Given the description of an element on the screen output the (x, y) to click on. 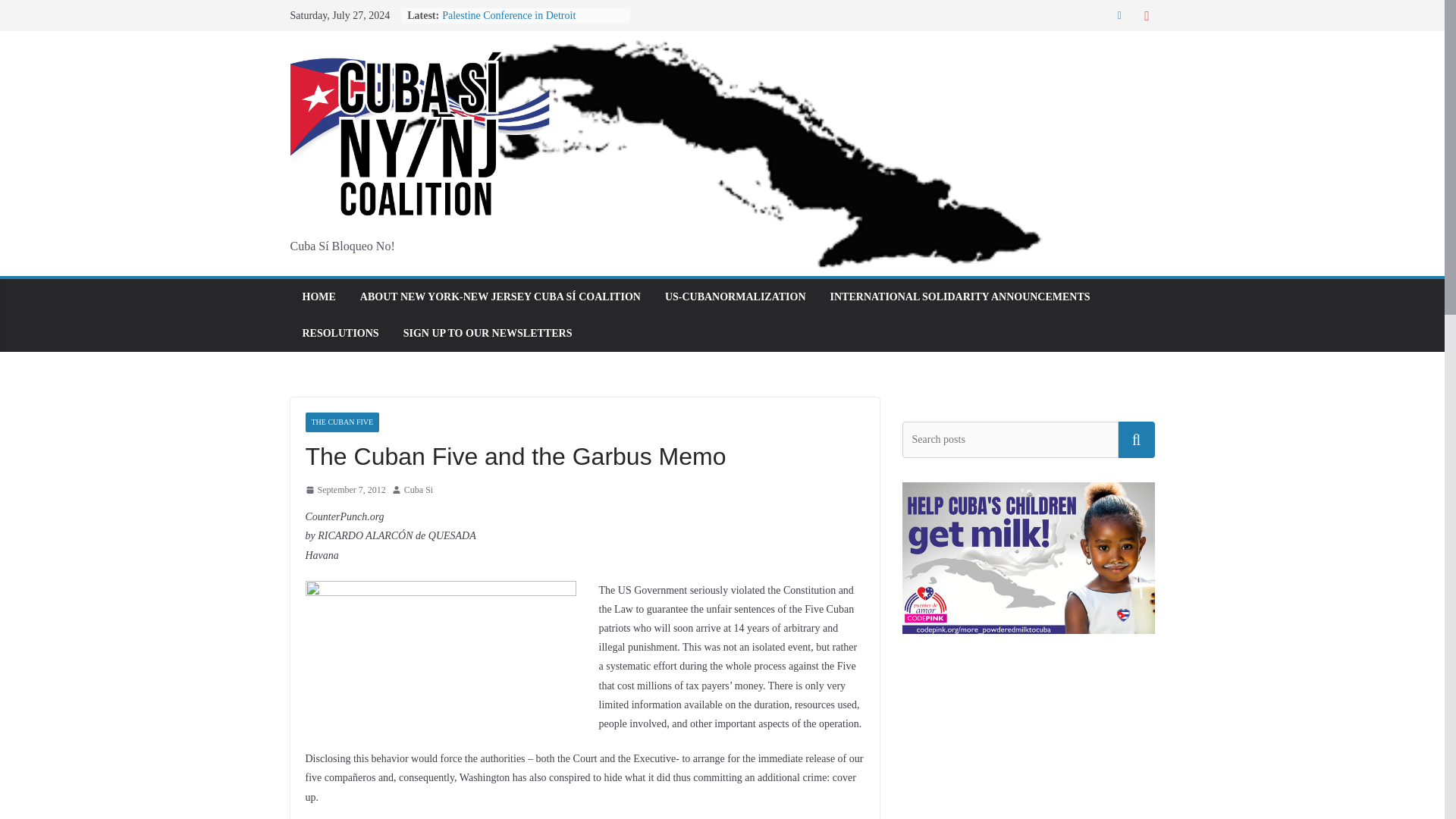
RESOLUTIONS (339, 332)
INTERNATIONAL SOLIDARITY ANNOUNCEMENTS (959, 296)
fivearc (439, 639)
Search (1136, 439)
US-CUBANORMALIZATION (735, 296)
HOME (317, 296)
Cuba Si (418, 490)
SIGN UP TO OUR NEWSLETTERS (487, 332)
THE CUBAN FIVE (341, 422)
Cuba Si (418, 490)
12:21 am (344, 490)
September 7, 2012 (344, 490)
Dare to Dream: Cuba's Latin American Medical School (1028, 729)
